Given the description of an element on the screen output the (x, y) to click on. 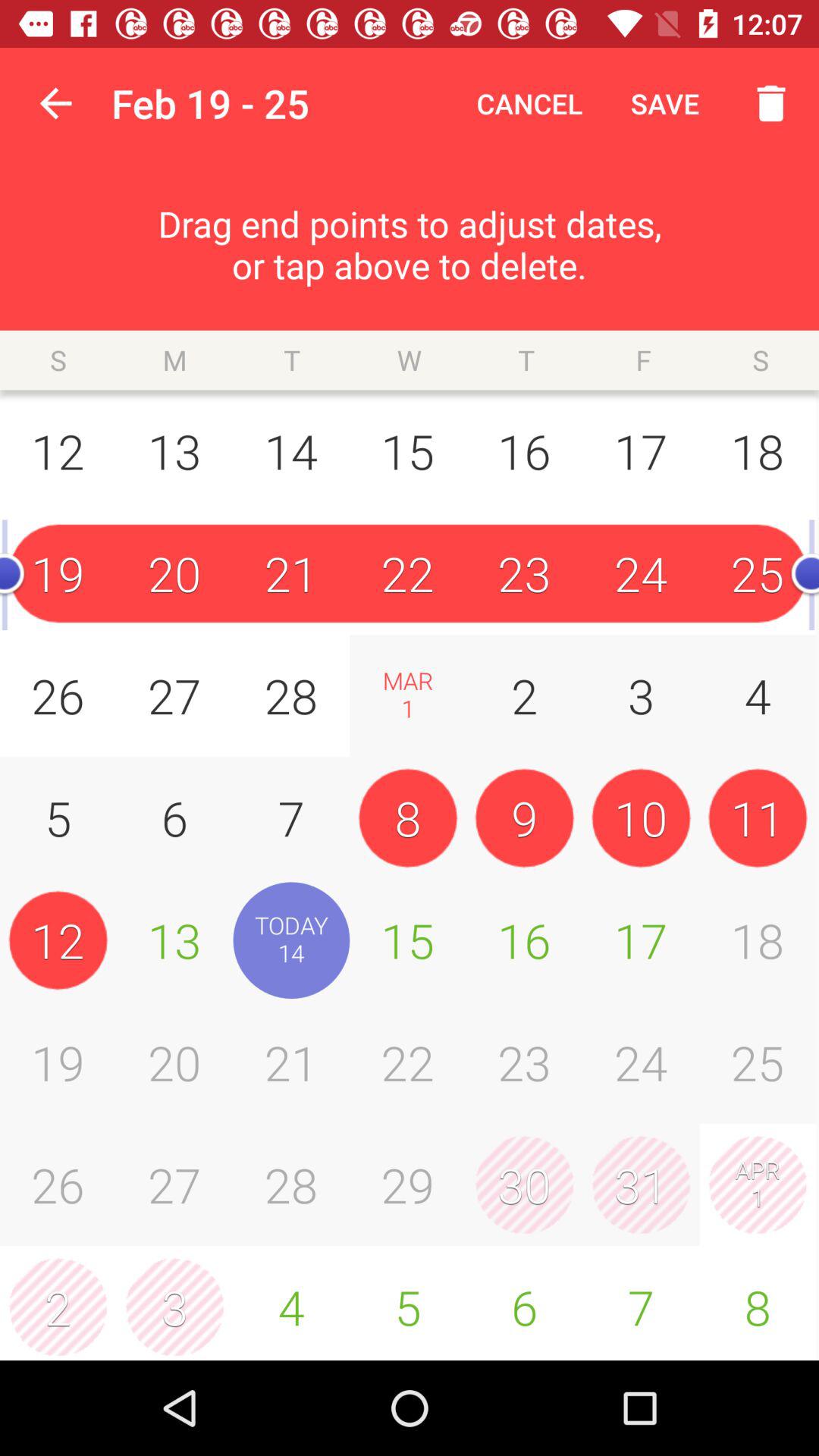
press the item to the left of the edit period item (55, 103)
